Given the description of an element on the screen output the (x, y) to click on. 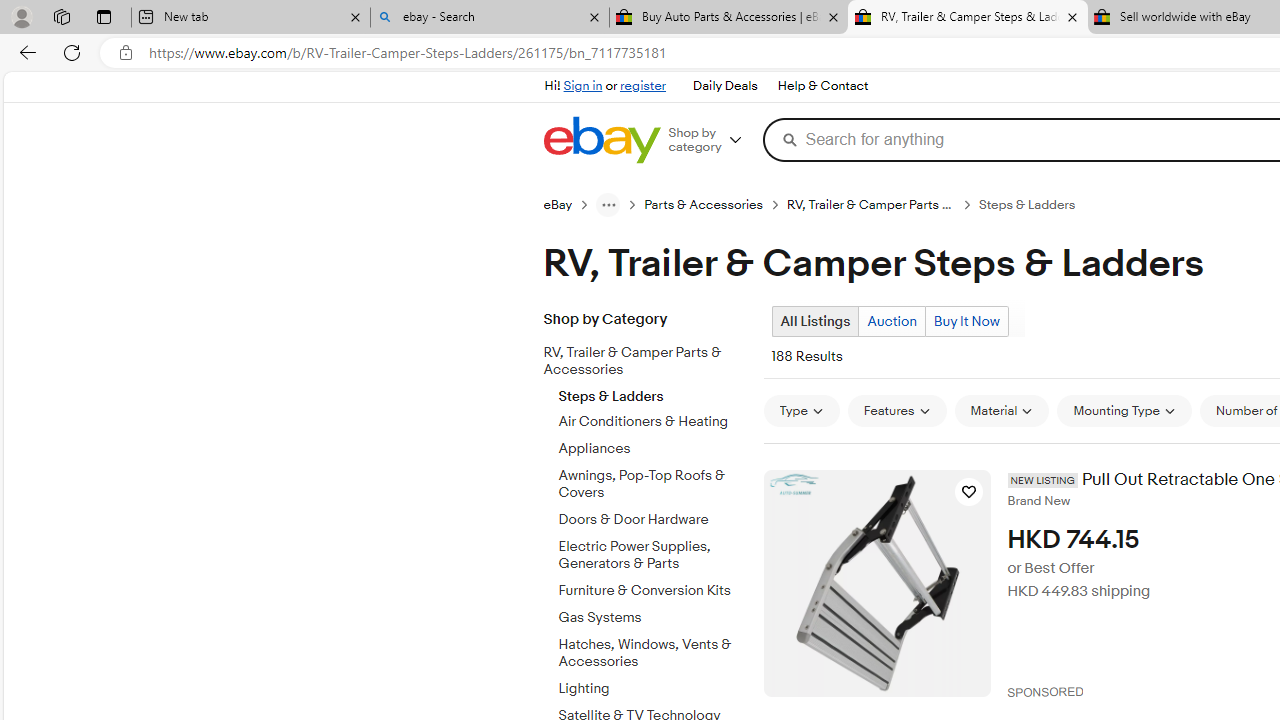
All Listings Current view (814, 321)
Auction (891, 321)
Appliances (653, 449)
eBay (557, 205)
Awnings, Pop-Top Roofs & Covers (653, 485)
Lighting (653, 689)
Hatches, Windows, Vents & Accessories (653, 653)
RV, Trailer & Camper Parts & Accessories (653, 358)
Steps & Ladders (653, 392)
RV, Trailer & Camper Parts & Accessories (637, 362)
Help & Contact (822, 86)
